Given the description of an element on the screen output the (x, y) to click on. 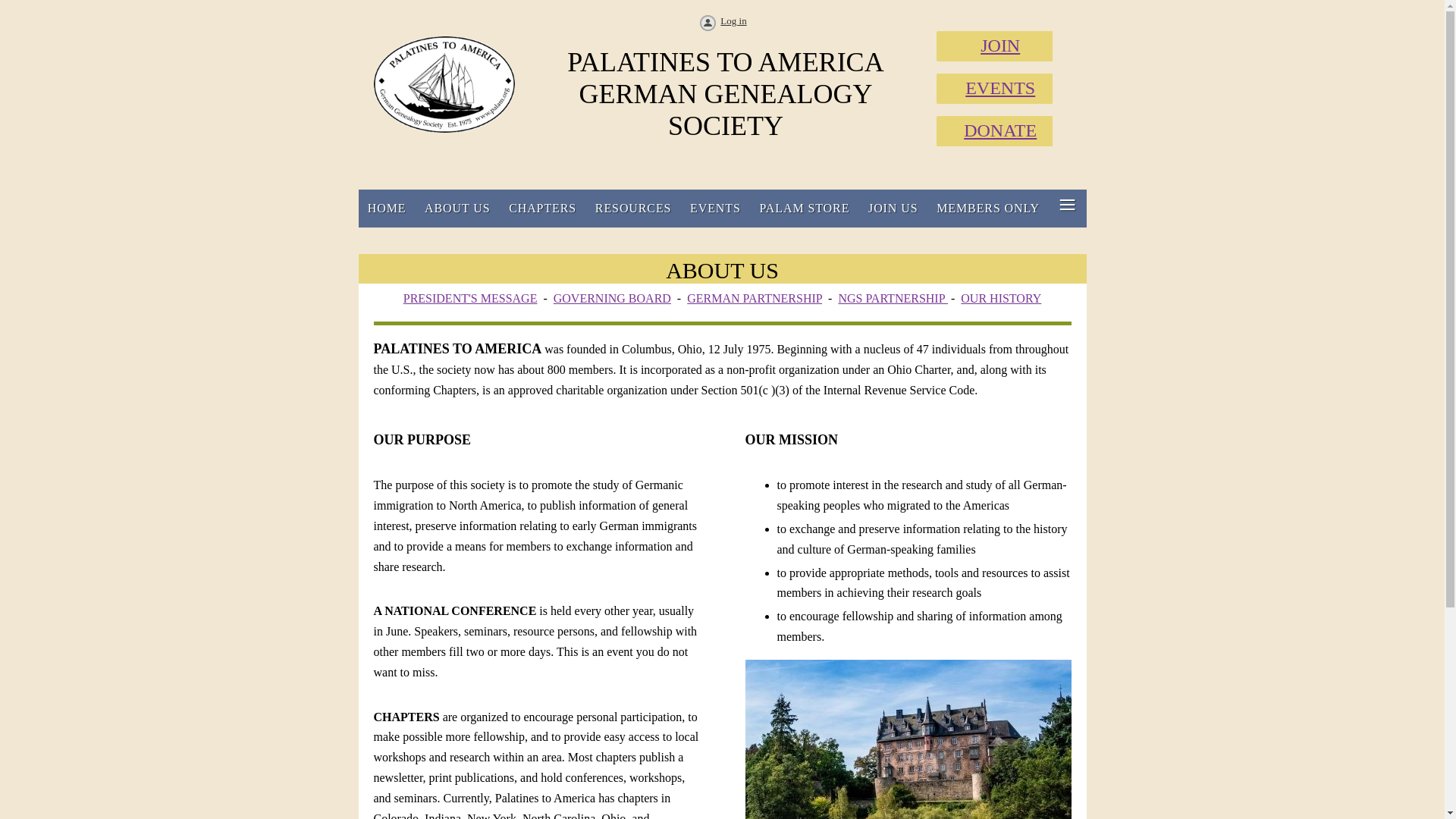
Chapters (542, 208)
Schloss Eisenbach near Lauterbach, Hesse (907, 739)
JOIN US (893, 208)
HOME (386, 208)
OUR HISTORY (1000, 297)
ABOUT US (456, 208)
MEMBERS ONLY (988, 208)
Join Us (893, 208)
JOIN (1000, 46)
About Us (456, 208)
CHAPTERS (542, 208)
NGS PARTNERSHIP  (892, 297)
GERMAN PARTNERSHIP (754, 297)
Events (715, 208)
PalAm Store (804, 208)
